Given the description of an element on the screen output the (x, y) to click on. 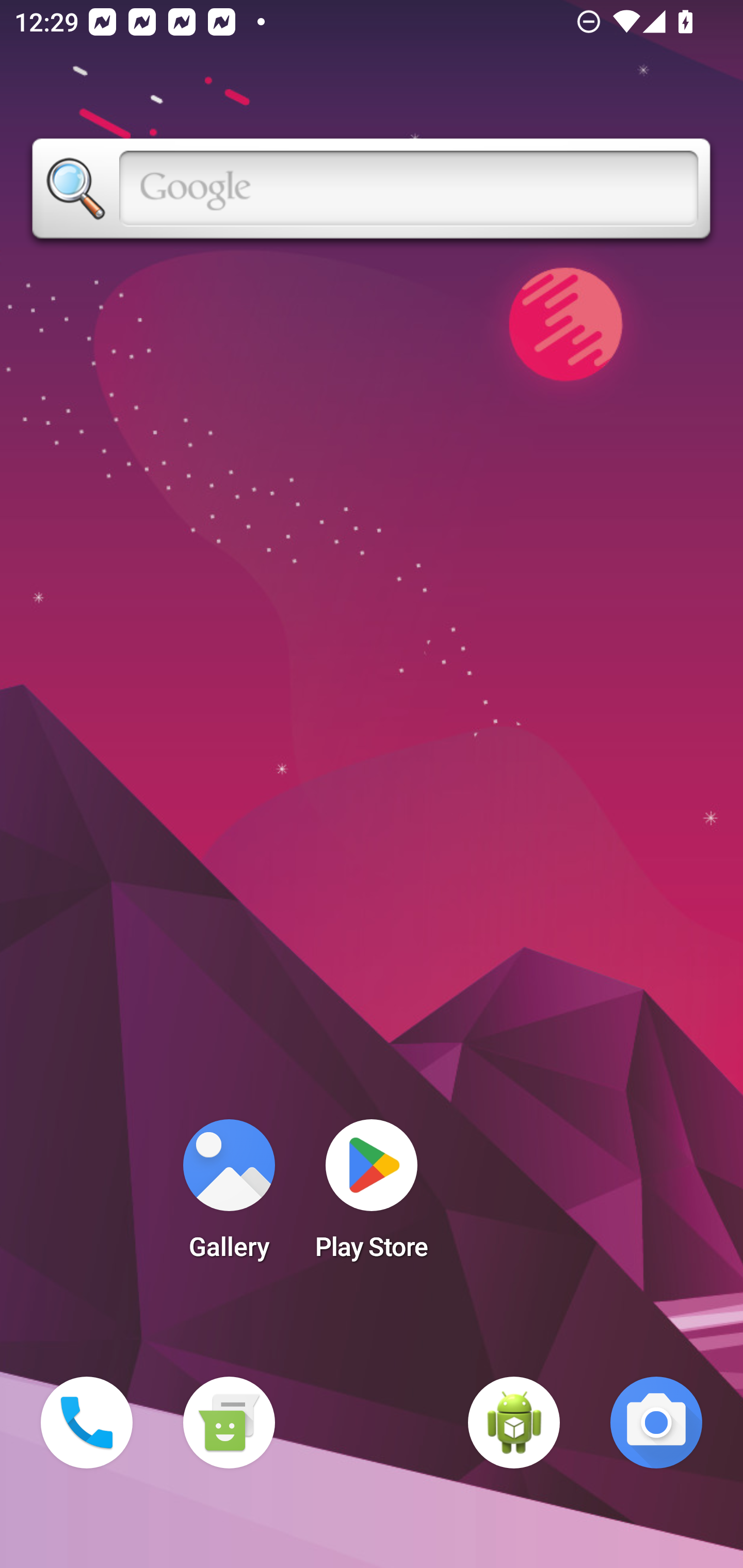
Gallery (228, 1195)
Play Store (371, 1195)
Phone (86, 1422)
Messaging (228, 1422)
WebView Browser Tester (513, 1422)
Camera (656, 1422)
